Given the description of an element on the screen output the (x, y) to click on. 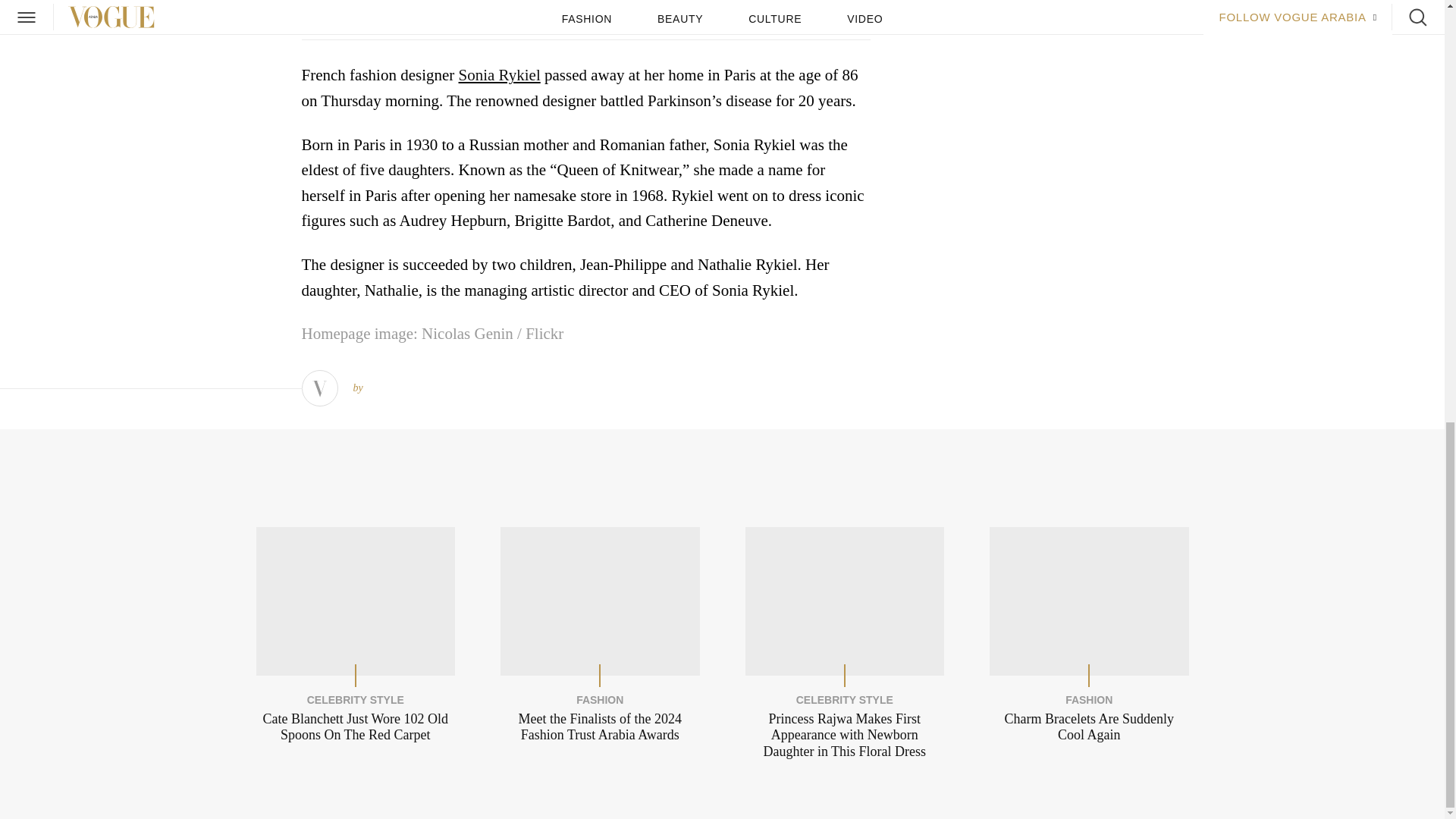
Sonia Rykiel (499, 75)
CELEBRITY STYLE (844, 699)
Meet the Finalists of the 2024 Fashion Trust Arabia Awards (600, 727)
FASHION (1088, 699)
FASHION (599, 699)
Cate Blanchett Just Wore 102 Old Spoons On The Red Carpet (355, 727)
CELEBRITY STYLE (355, 699)
Instagram (385, 20)
Charm Bracelets Are Suddenly Cool Again (1089, 727)
